Given the description of an element on the screen output the (x, y) to click on. 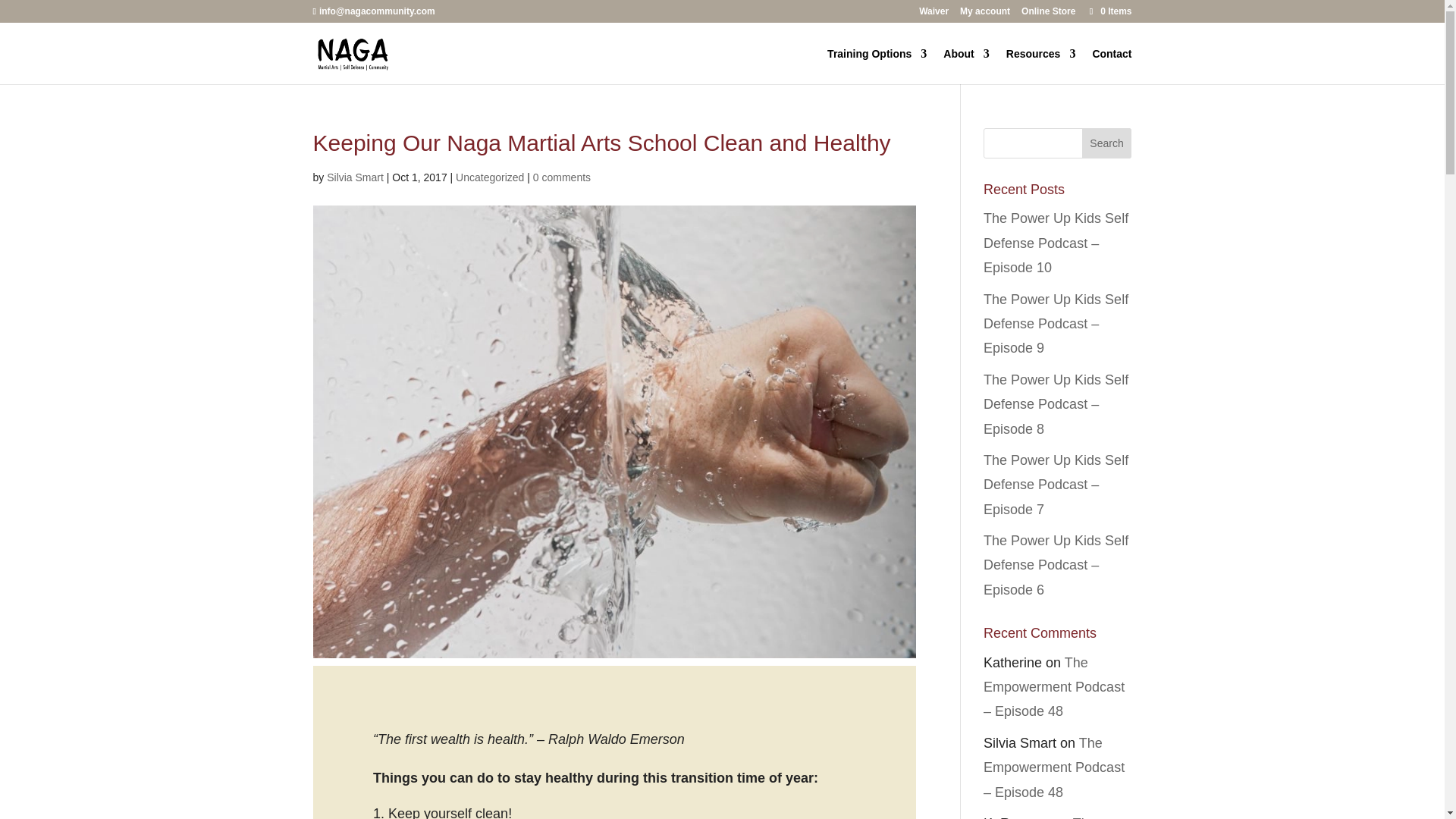
Search (1106, 142)
Posts by Silvia Smart (355, 177)
My account (984, 14)
Training Options (876, 66)
Waiver (933, 14)
About (965, 66)
0 Items (1108, 10)
Online Store (1048, 14)
